Given the description of an element on the screen output the (x, y) to click on. 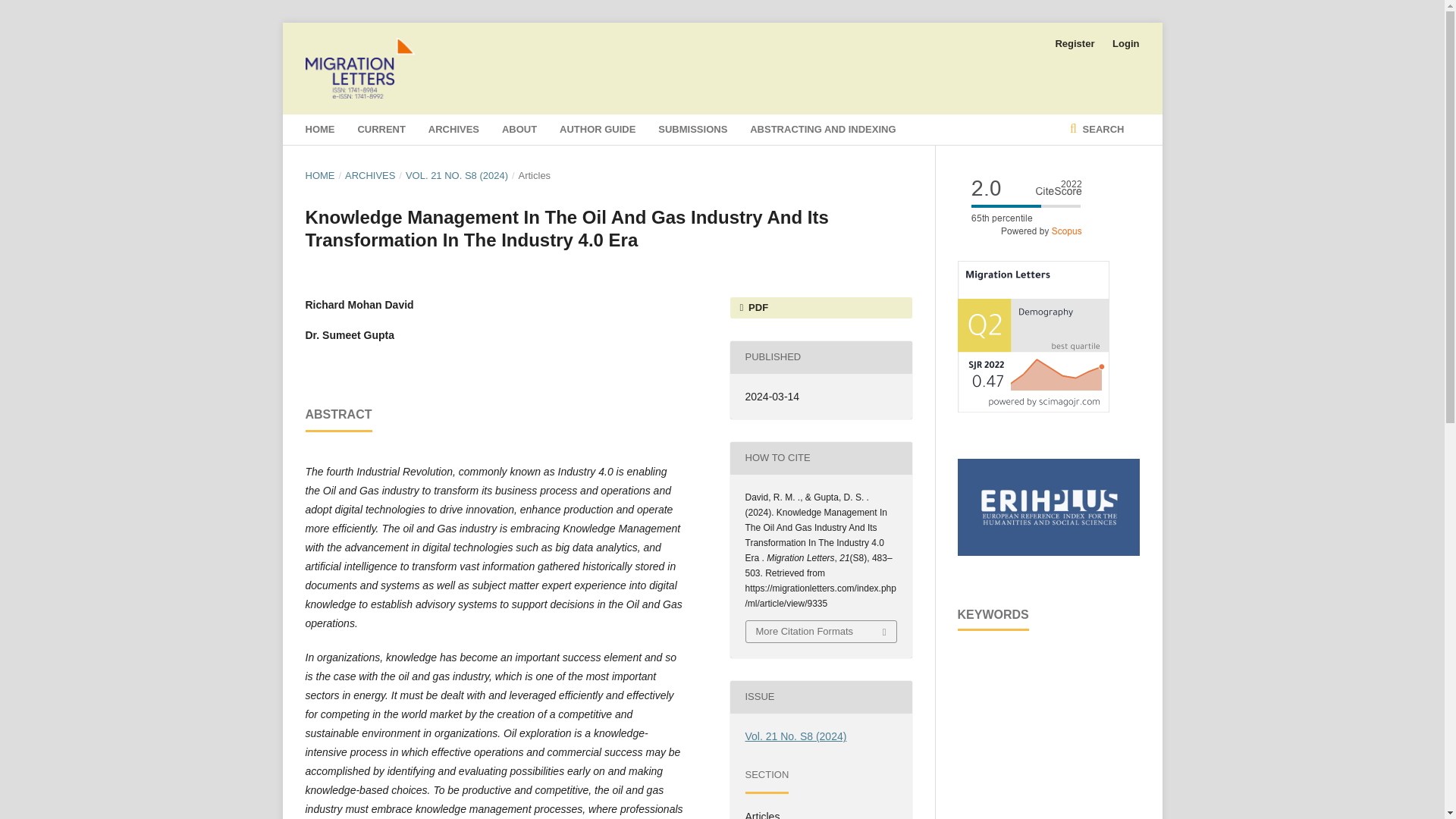
HOME (319, 175)
SEARCH (1096, 129)
CURRENT (381, 129)
ABOUT (519, 129)
More Citation Formats (820, 631)
ARCHIVES (453, 129)
ARCHIVES (369, 175)
AUTHOR GUIDE (596, 129)
Register (1074, 43)
PDF (820, 307)
